Given the description of an element on the screen output the (x, y) to click on. 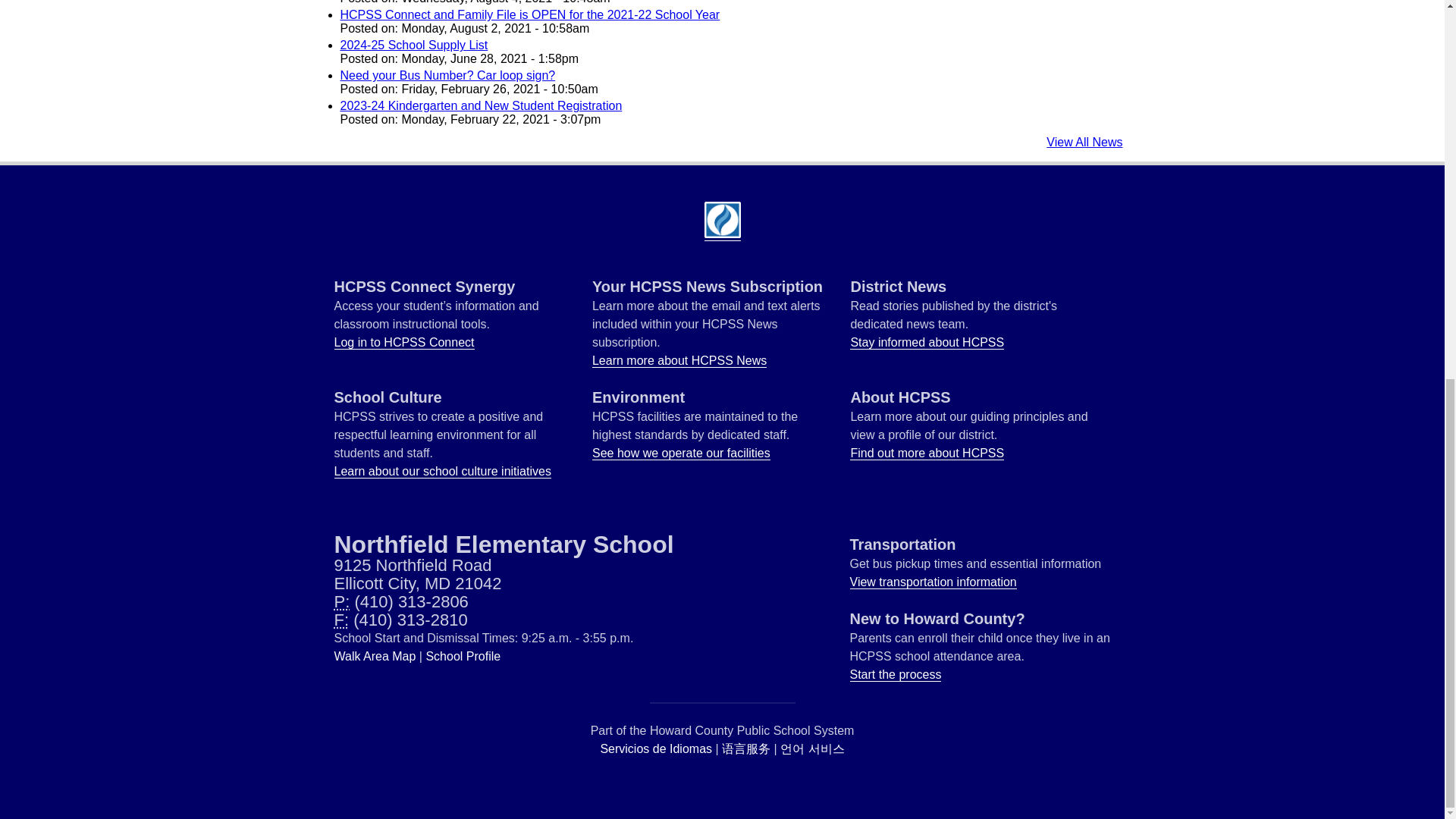
2023-24 Kindergarten and New Student Registration (480, 105)
View All News (1084, 141)
Need your Bus Number? Car loop sign? (446, 74)
2024-25 School Supply List (413, 44)
